Given the description of an element on the screen output the (x, y) to click on. 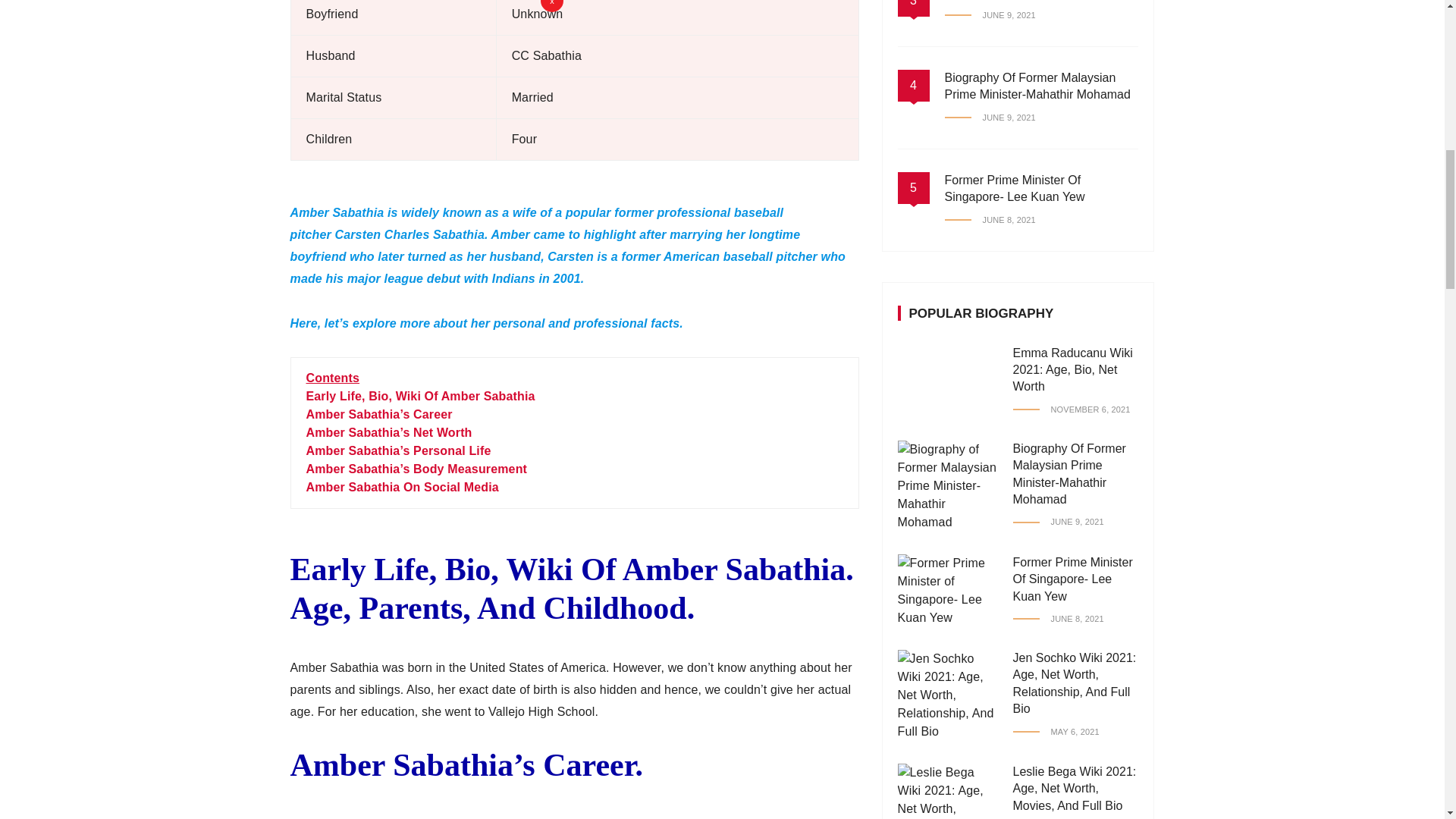
JUNE 9, 2021 (989, 43)
JUNE 8, 2021 (989, 145)
Emma Raducanu Wiki 2021: Age, Bio, Net Worth (1072, 295)
Former Prime Minister Of Singapore- Lee Kuan Yew (1014, 114)
